Given the description of an element on the screen output the (x, y) to click on. 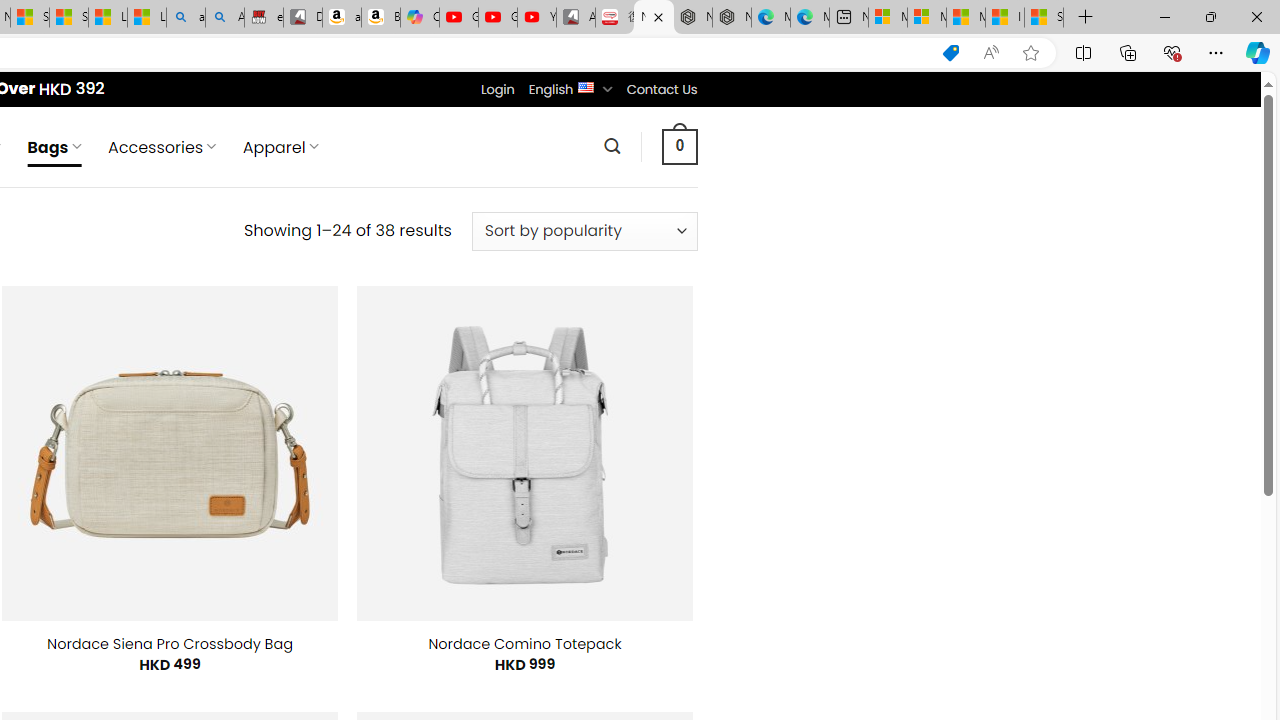
Copilot (419, 17)
Login (497, 89)
This site has coupons! Shopping in Microsoft Edge (950, 53)
 0  (679, 146)
Shop order (584, 231)
Microsoft account | Privacy (926, 17)
Nordace - Bags (653, 17)
